Given the description of an element on the screen output the (x, y) to click on. 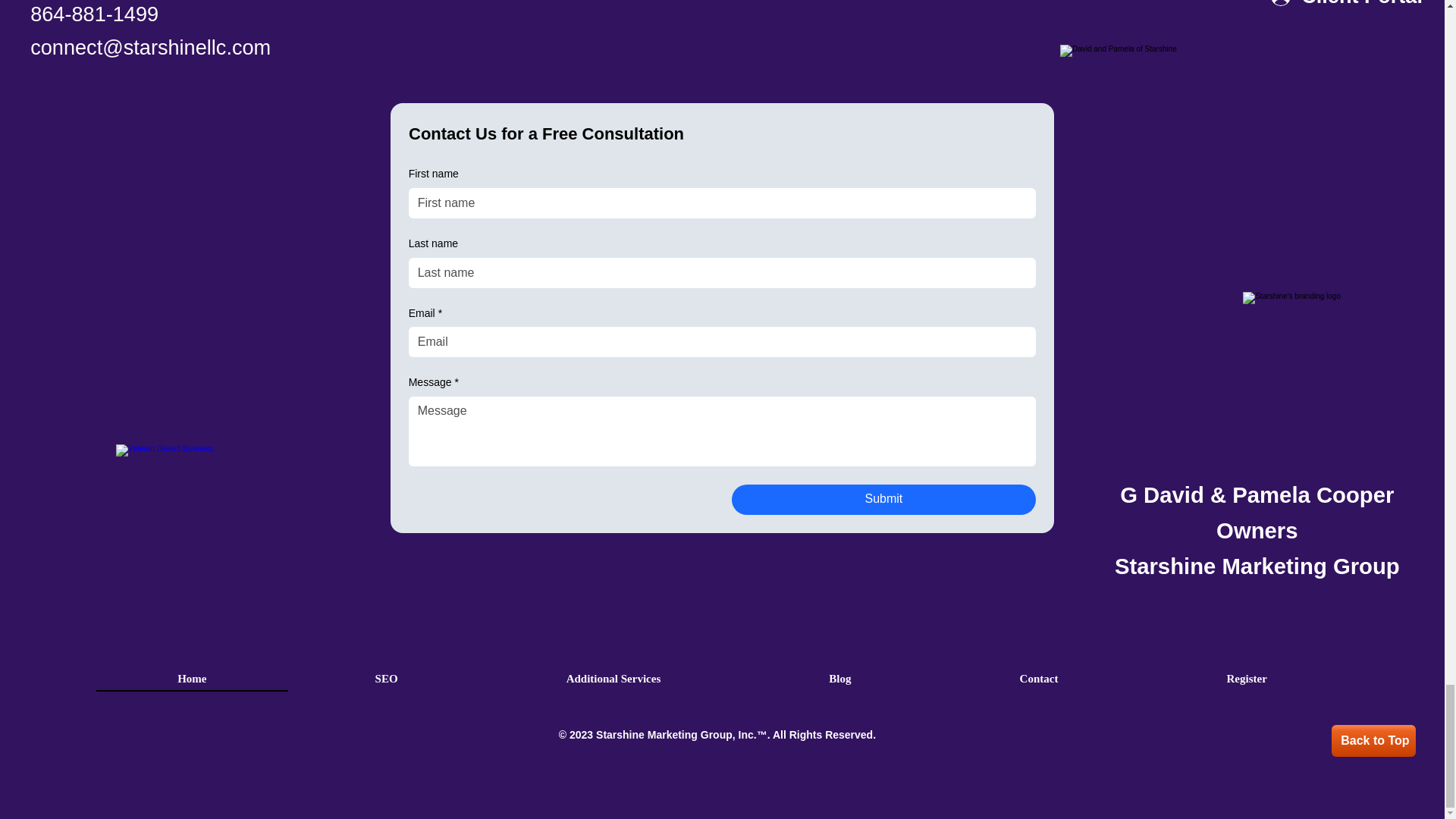
Additional Services (613, 678)
Client Portal (1346, 7)
Back to Top (1373, 740)
Submit (882, 499)
Starshine Marketing Group (663, 734)
Register (1246, 678)
Home (191, 678)
Blog (839, 678)
SEO (386, 678)
Contact (1039, 678)
